Given the description of an element on the screen output the (x, y) to click on. 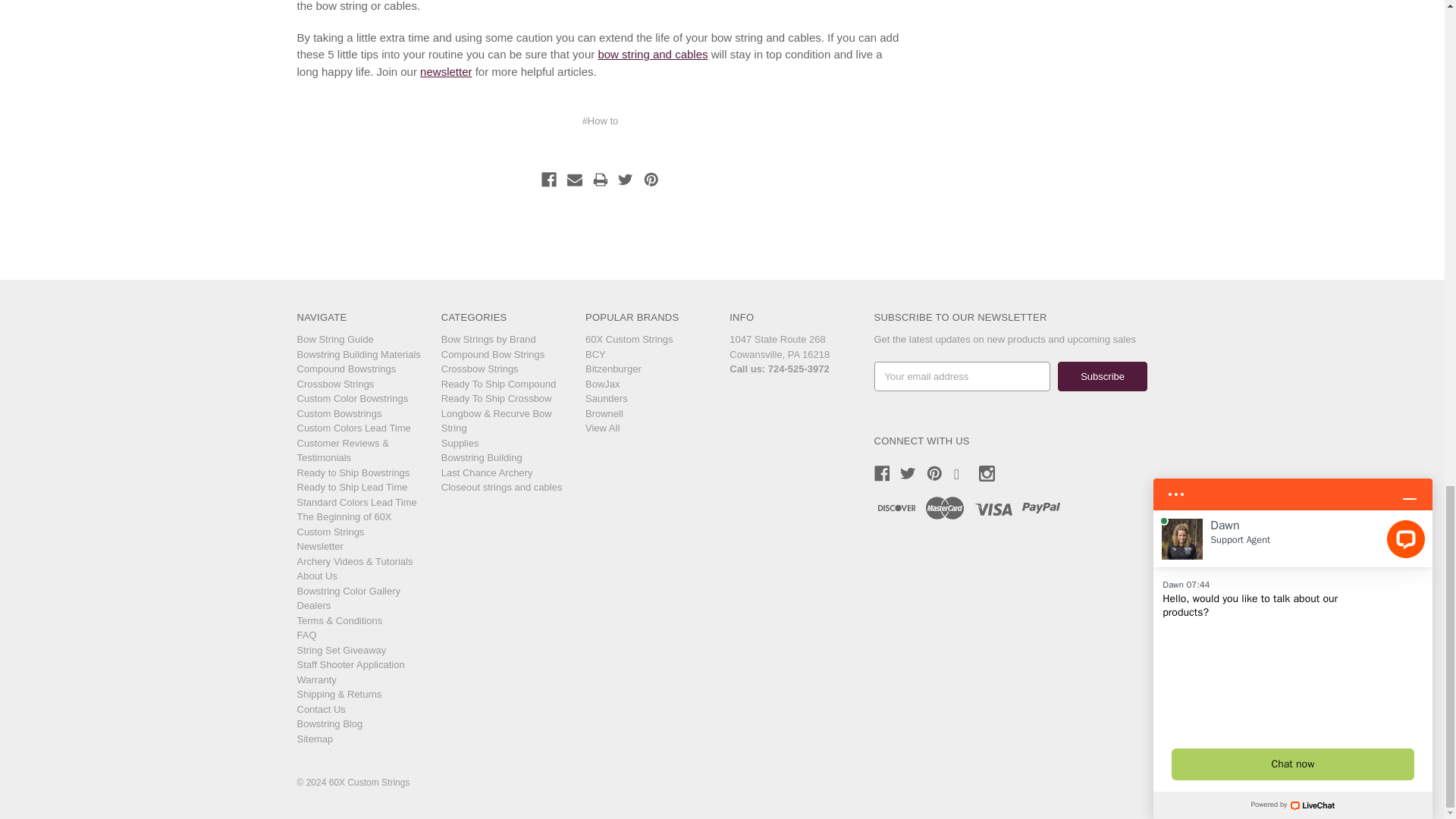
Subscribe (1103, 376)
